Given the description of an element on the screen output the (x, y) to click on. 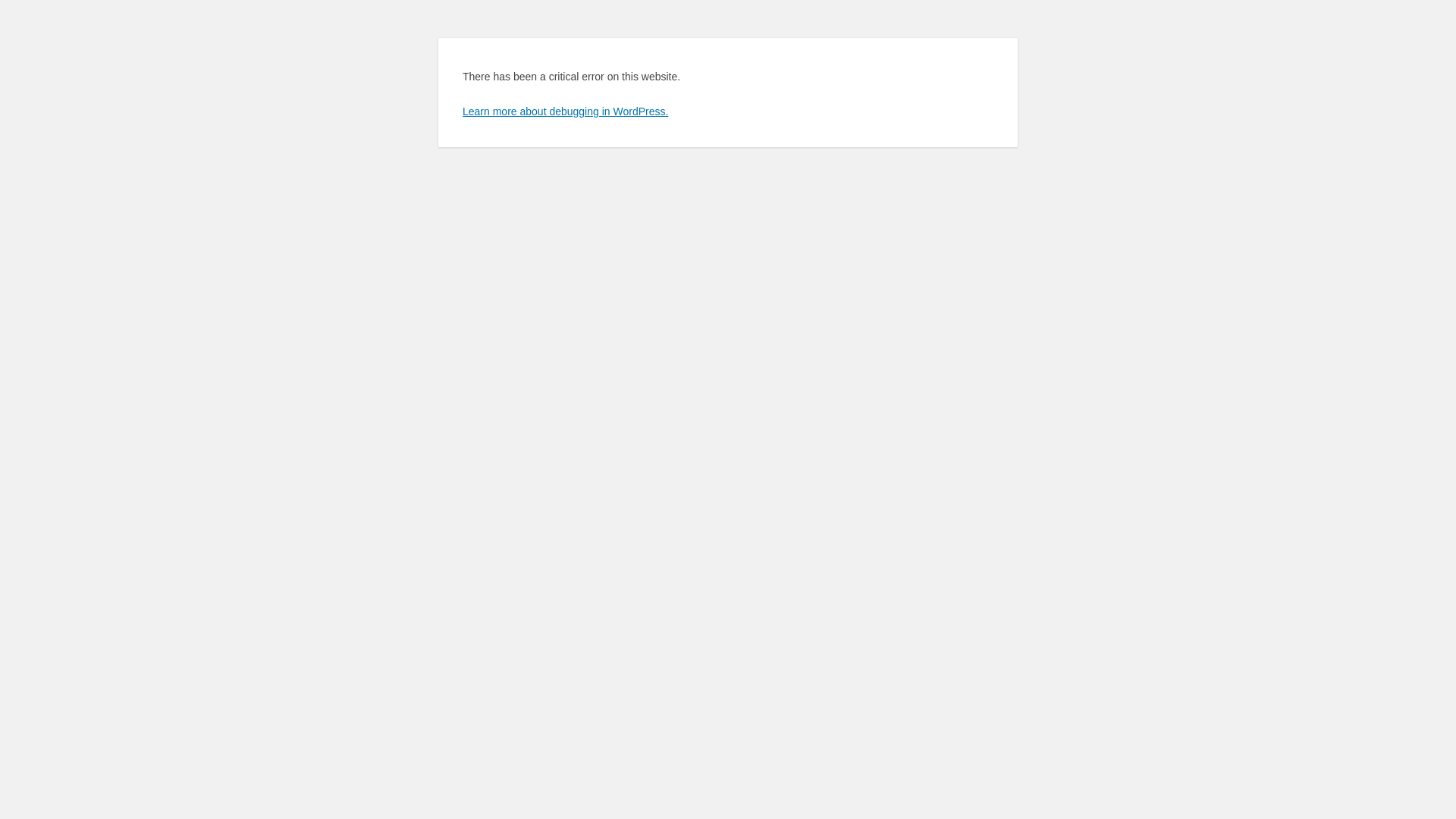
Learn more about debugging in WordPress. Element type: text (565, 111)
